Given the description of an element on the screen output the (x, y) to click on. 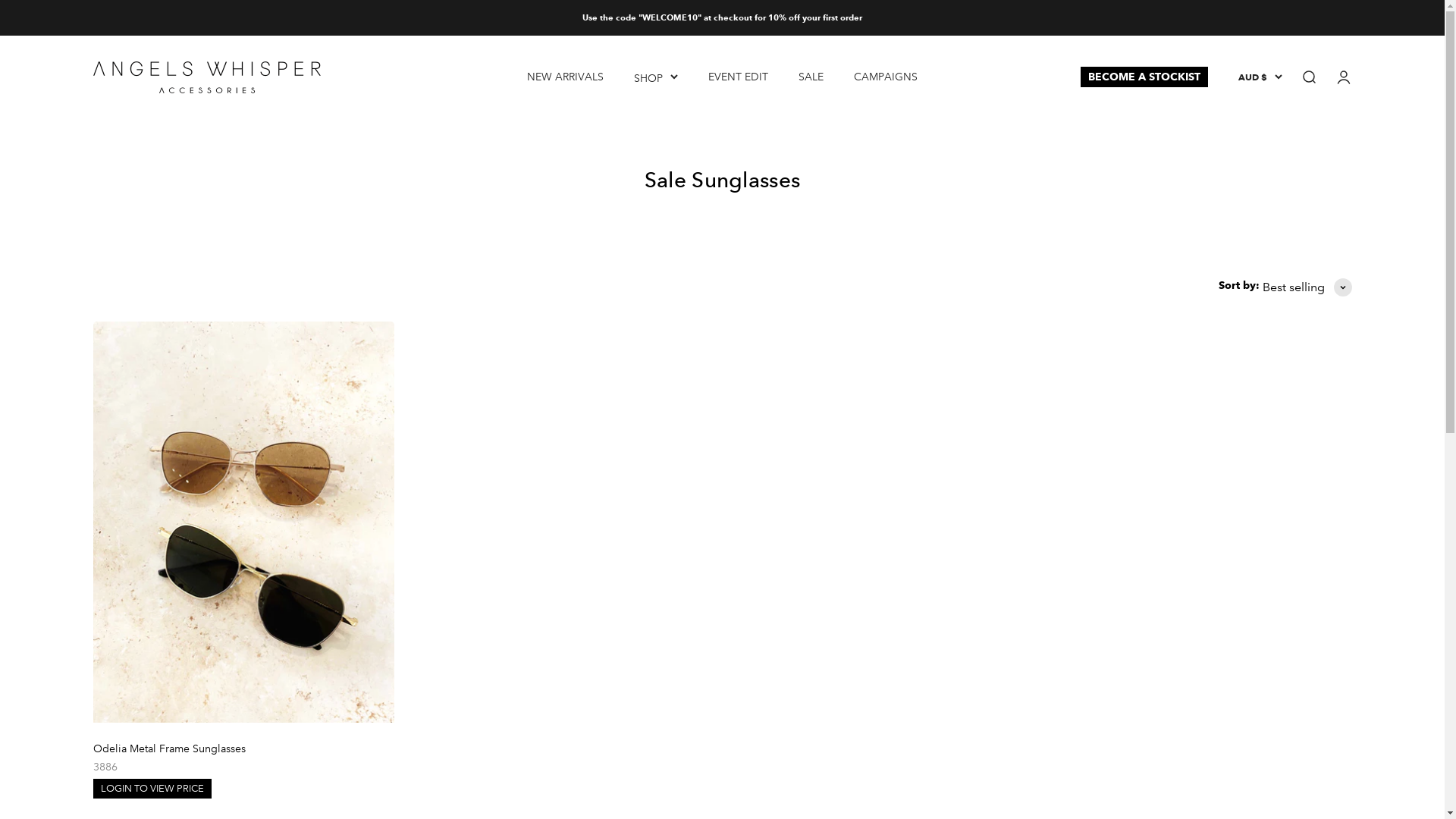
Angels Whisper Accessories Element type: text (206, 77)
Open account page Element type: text (1342, 77)
Odelia Metal Frame Sunglasses Element type: text (168, 748)
AUD $ Element type: text (1259, 76)
NEW ARRIVALS Element type: text (565, 75)
EVENT EDIT Element type: text (738, 75)
Best selling Element type: text (1306, 287)
BECOME A STOCKIST Element type: text (1143, 76)
Open search Element type: text (1307, 77)
LOGIN TO VIEW PRICE Element type: text (151, 788)
SALE Element type: text (810, 75)
CAMPAIGNS Element type: text (885, 75)
